Given the description of an element on the screen output the (x, y) to click on. 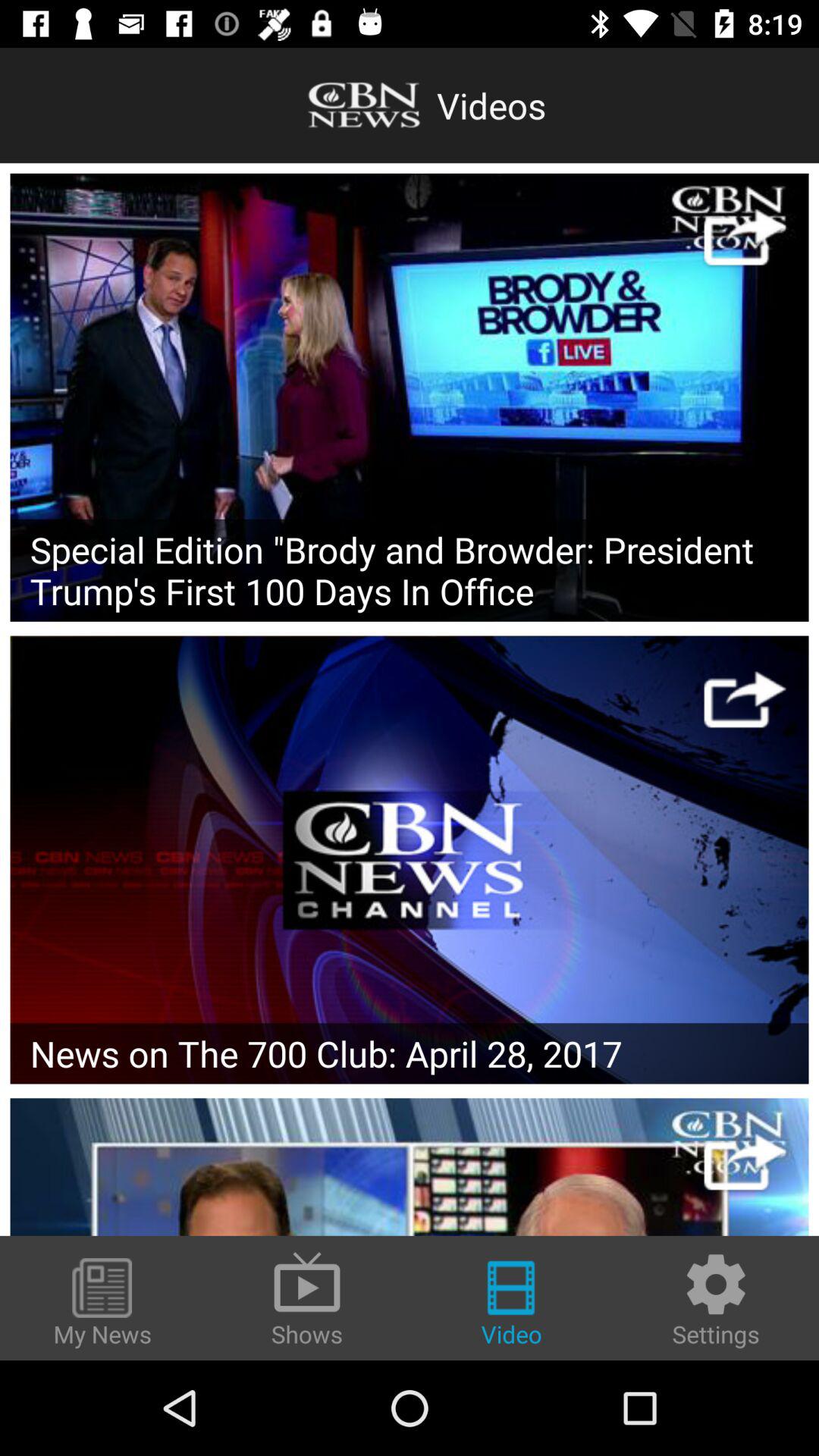
share it (744, 236)
